Given the description of an element on the screen output the (x, y) to click on. 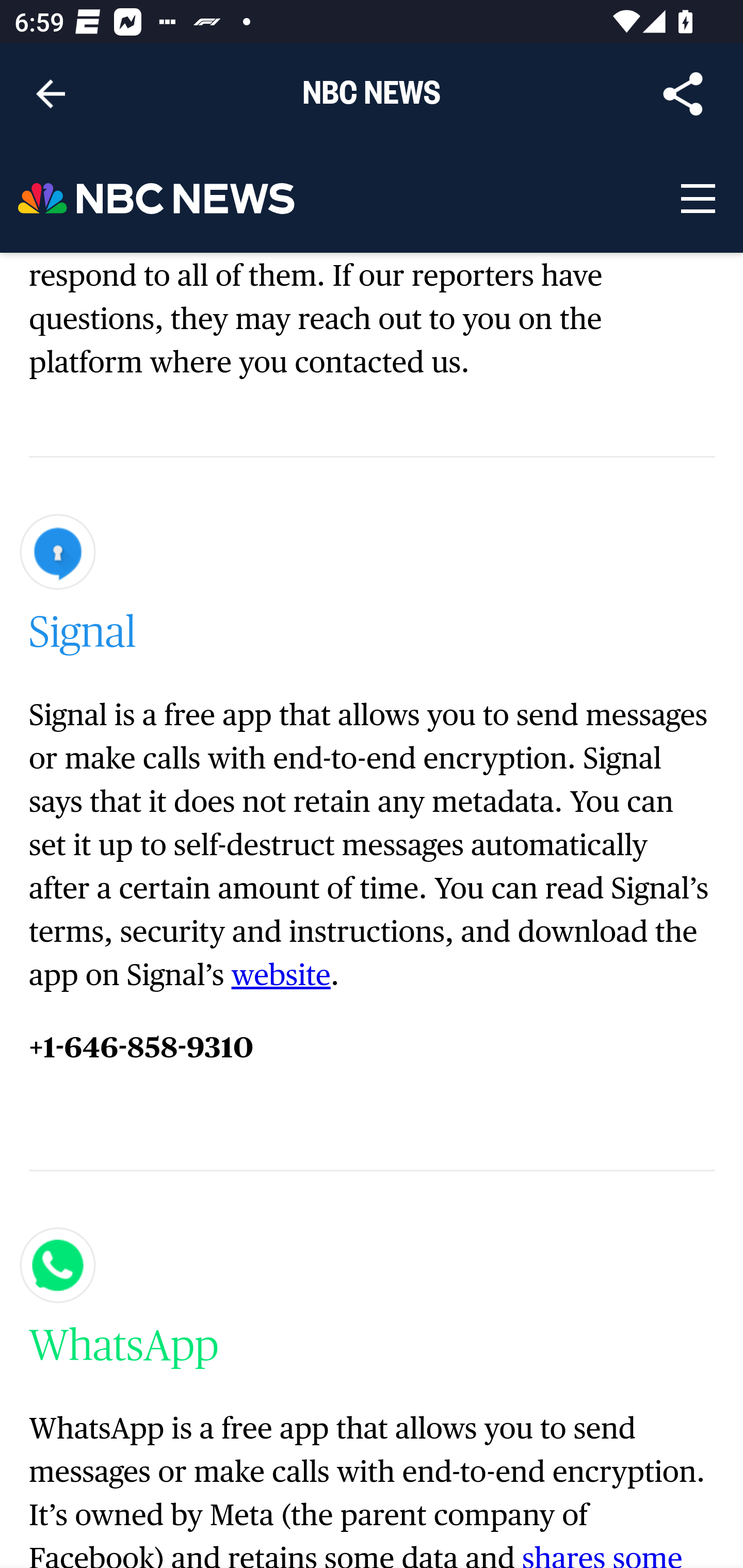
Navigate up (50, 93)
Share Article, button (683, 94)
NBC News Logo (156, 199)
news navigation and search (696, 199)
website (281, 974)
shares some information with Meta (356, 1554)
